Given the description of an element on the screen output the (x, y) to click on. 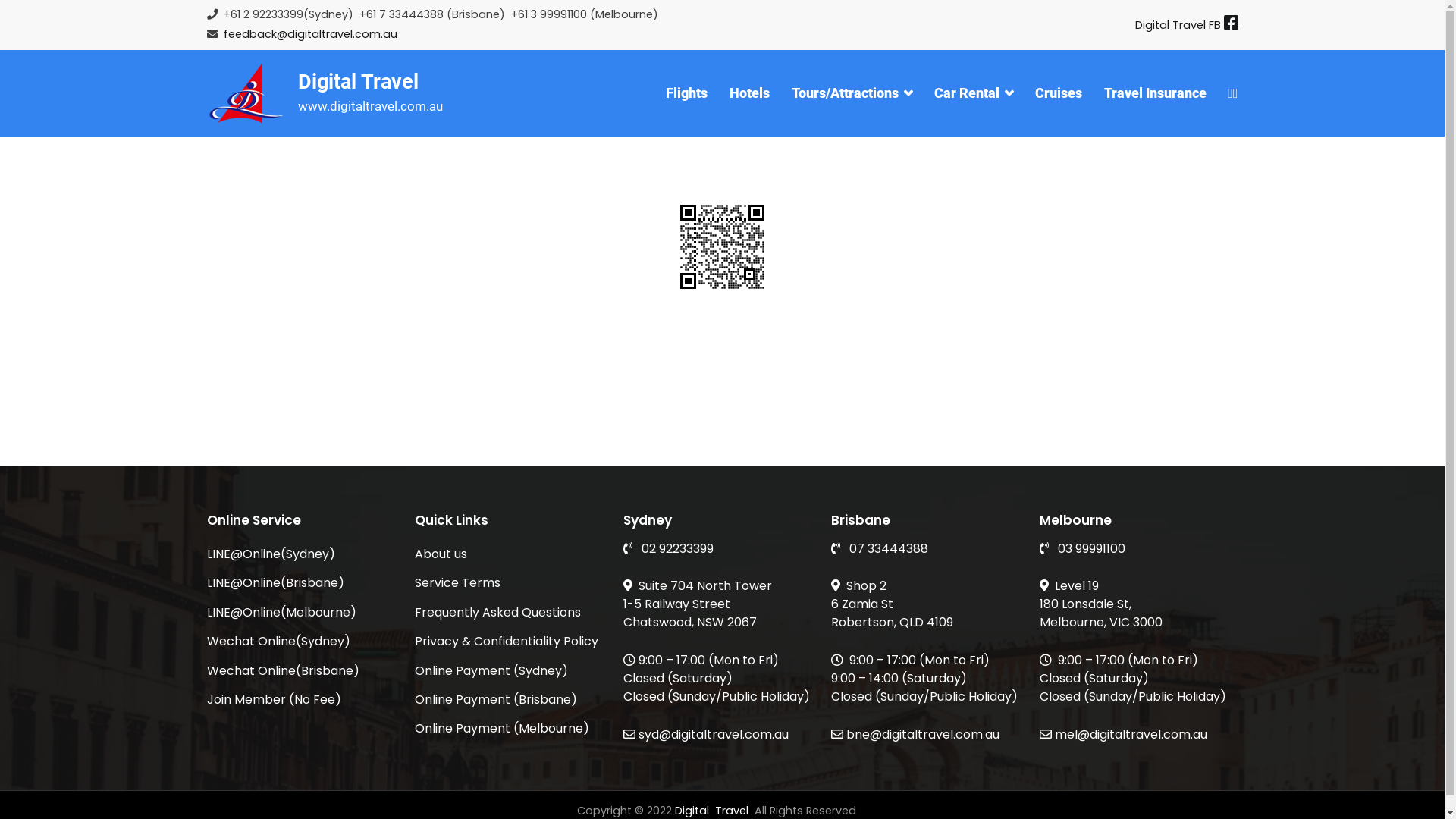
Online Payment (Sydney) Element type: text (513, 669)
Online Payment (Brisbane) Element type: text (513, 699)
syd@digitaltravel.com.au Element type: text (705, 734)
About us Element type: text (513, 553)
Cruises Element type: text (1058, 93)
Digital Travel FB Element type: text (1185, 24)
Join Member (No Fee) Element type: text (305, 699)
Tours/Attractions Element type: text (851, 93)
Frequently Asked Questions Element type: text (513, 612)
Car Rental Element type: text (973, 93)
Flights Element type: text (686, 93)
LINE@Online(Sydney) Element type: text (305, 553)
feedback@digitaltravel.com.au Element type: text (309, 33)
Service Terms Element type: text (513, 582)
bne@digitaltravel.com.au Element type: text (915, 734)
Digital  Travel Element type: text (712, 810)
LINE@Online(Melbourne) Element type: text (305, 612)
LINE@Online(Brisbane) Element type: text (305, 582)
Online Payment (Melbourne) Element type: text (513, 728)
mel@digitaltravel.com.au Element type: text (1122, 734)
Digital Travel Element type: text (357, 81)
Wechat Online(Brisbane) Element type: text (305, 669)
Travel Insurance Element type: text (1155, 93)
Privacy & Confidentiality Policy Element type: text (513, 641)
Wechat Online(Sydney) Element type: text (305, 641)
Hotels Element type: text (749, 93)
